Given the description of an element on the screen output the (x, y) to click on. 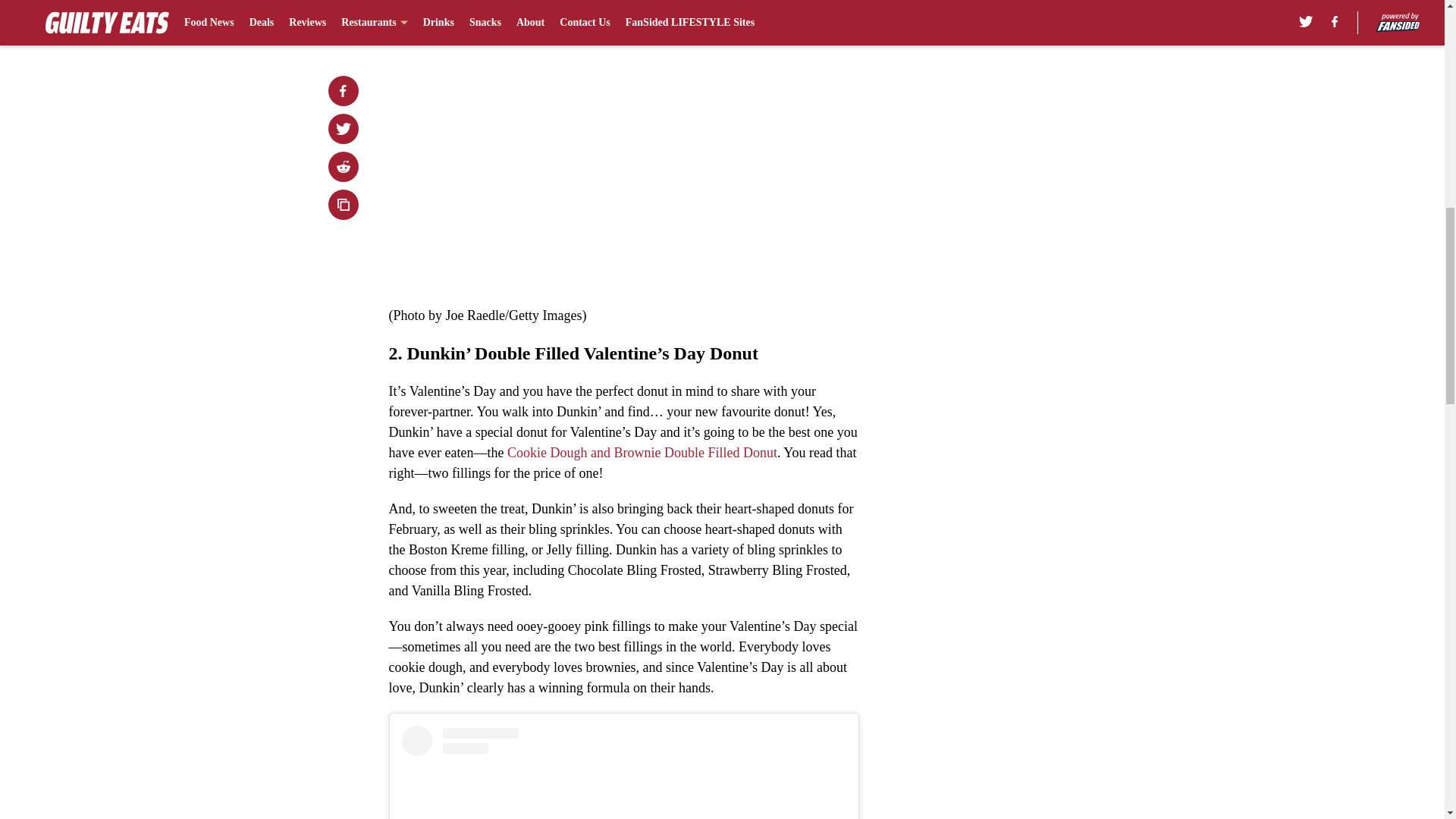
Prev (433, 5)
View this post on Instagram (623, 772)
Cookie Dough and Brownie Double Filled Donut (641, 452)
Next (813, 5)
